Given the description of an element on the screen output the (x, y) to click on. 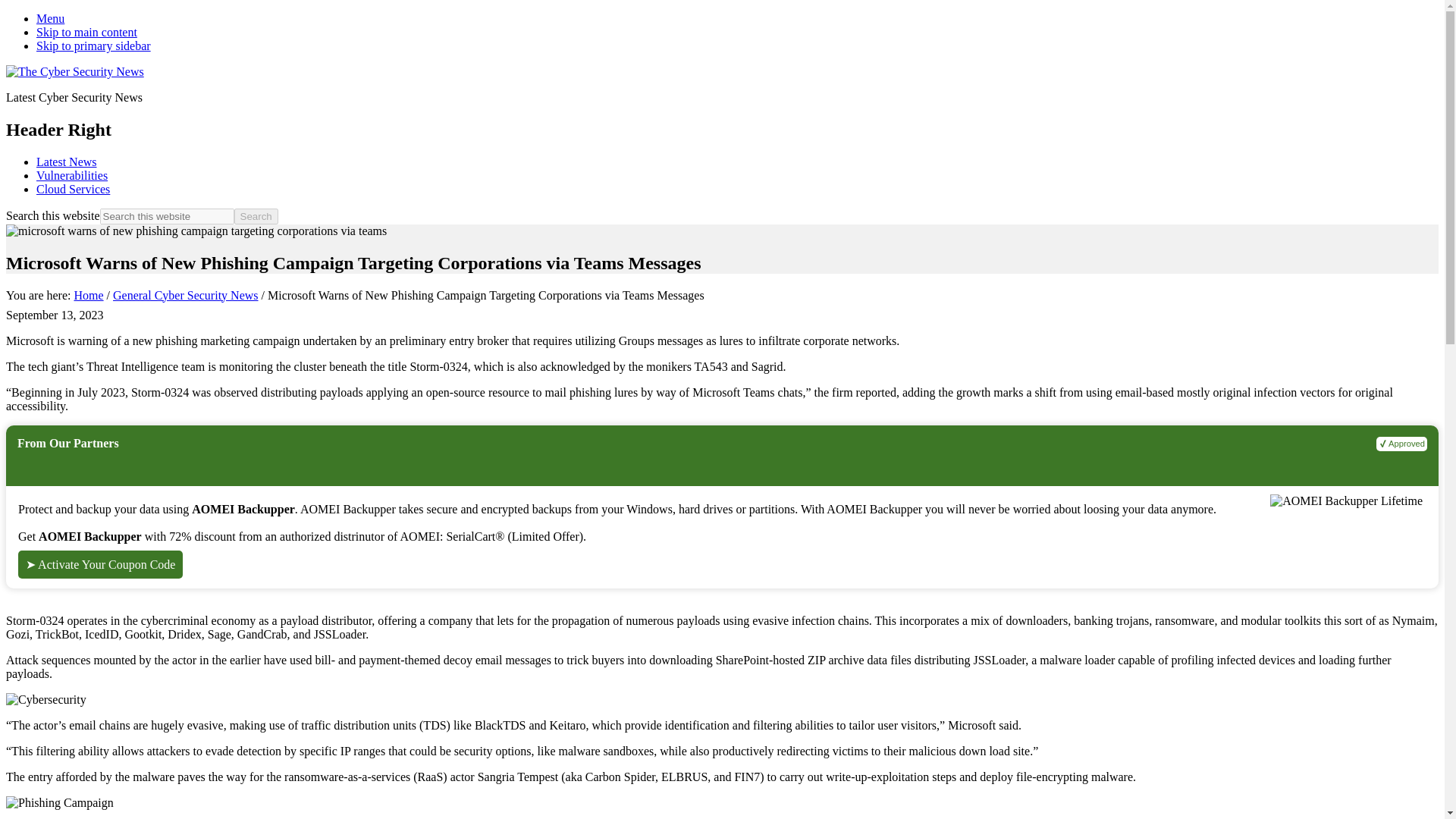
Vulnerabilities (71, 174)
Skip to main content (86, 31)
Search (256, 216)
Search (256, 216)
Menu (50, 18)
Skip to primary sidebar (93, 45)
Cloud Services (73, 188)
General Cyber Security News (186, 295)
Search (256, 216)
Home (88, 295)
